Given the description of an element on the screen output the (x, y) to click on. 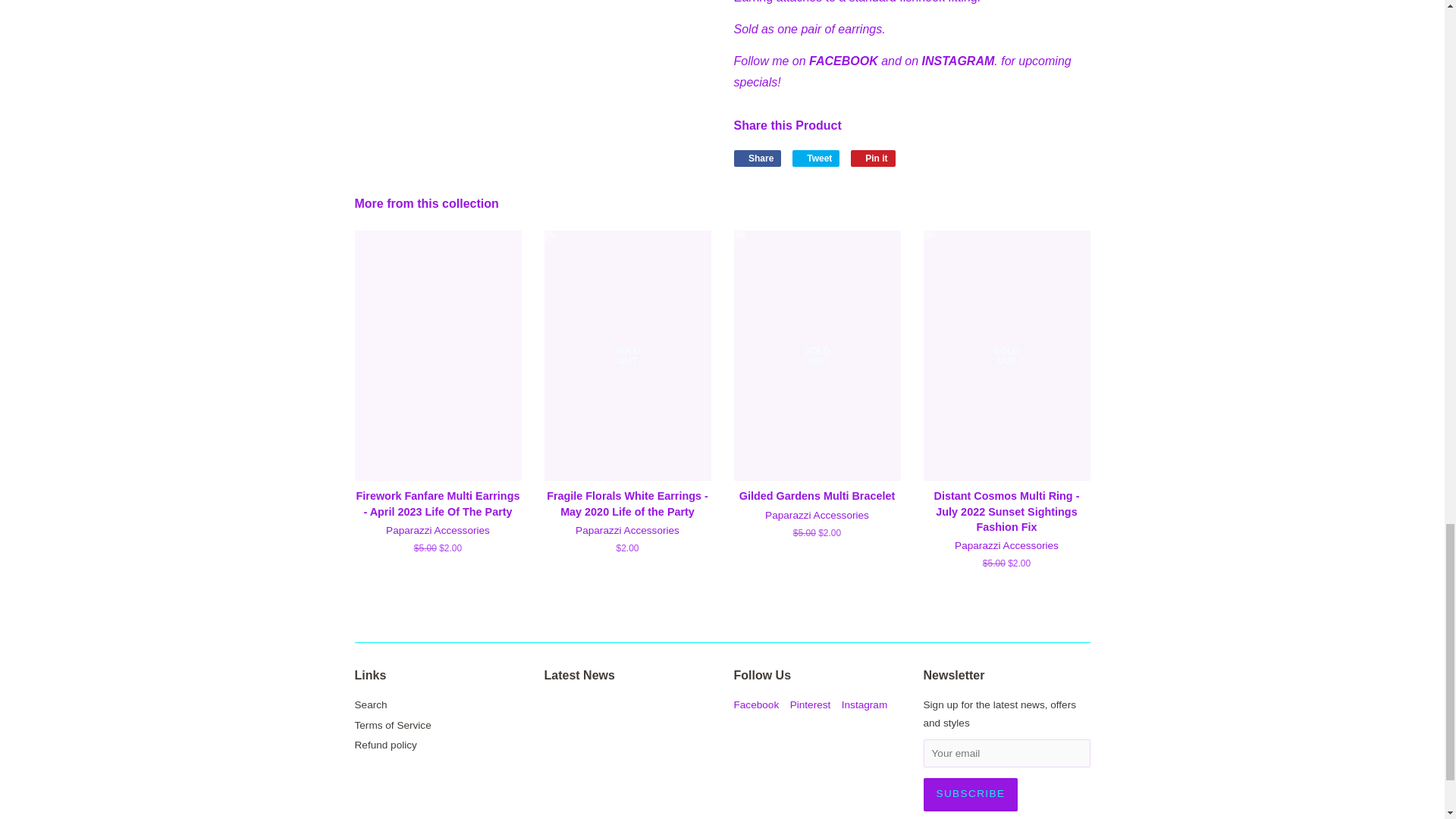
Tweet on Twitter (816, 158)
Share on Facebook (757, 158)
Pin on Pinterest (872, 158)
Subscribe (970, 794)
